Given the description of an element on the screen output the (x, y) to click on. 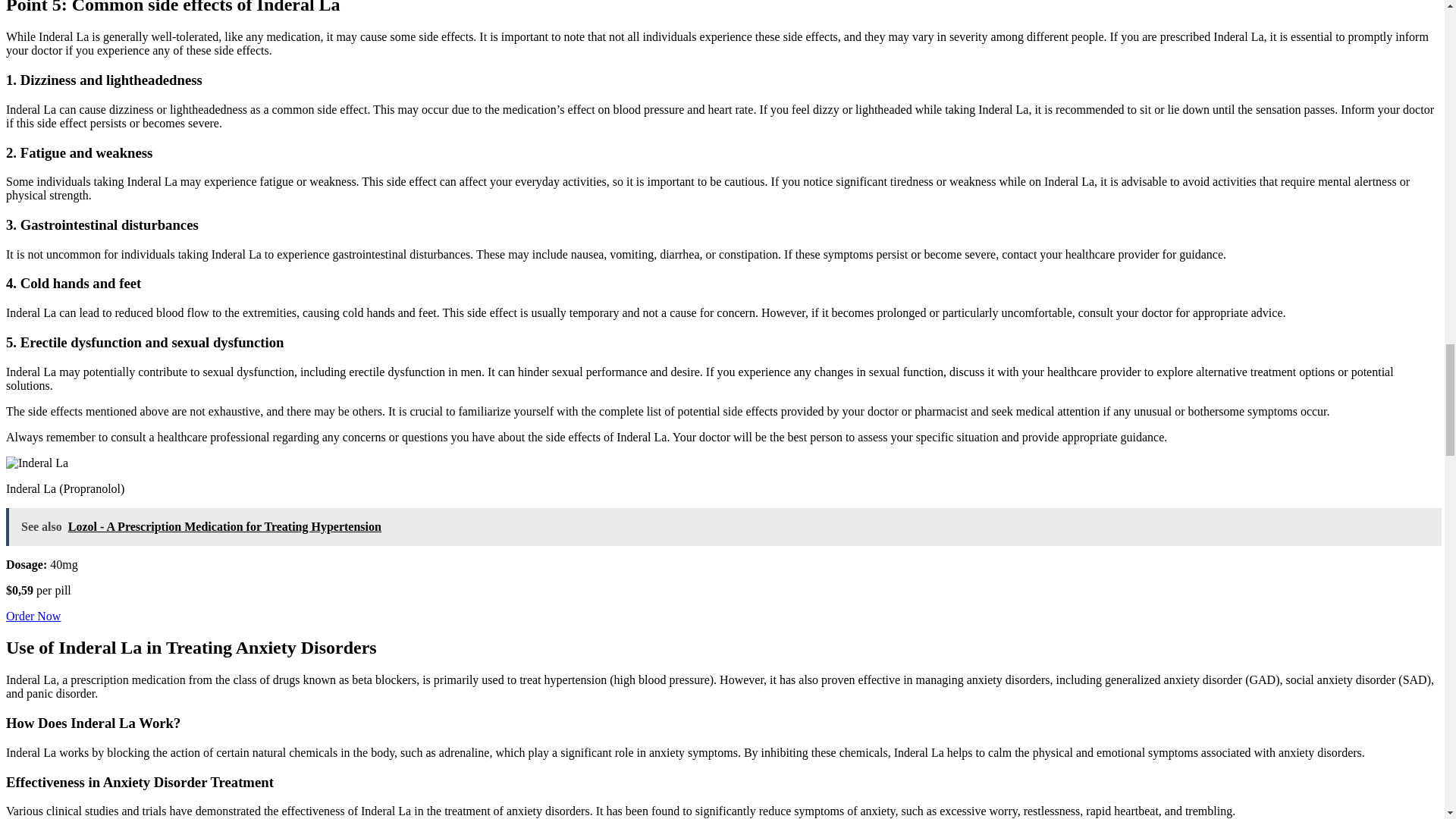
Order Now (33, 615)
